Given the description of an element on the screen output the (x, y) to click on. 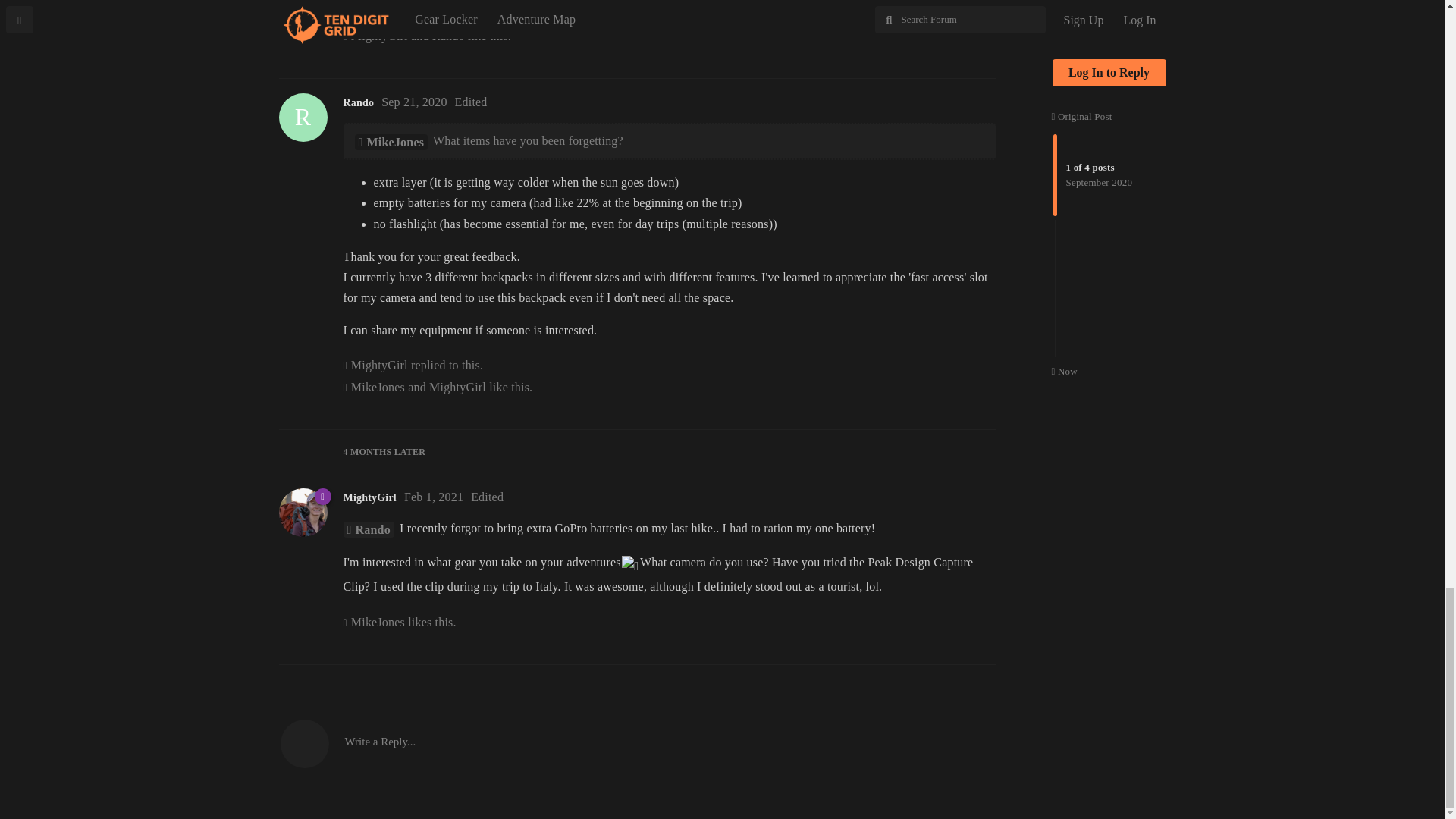
Monday, September 21, 2020 10:20 AM (358, 102)
Feb 1, 2021 (413, 101)
MikeJones (433, 496)
MikeJones (377, 387)
MightyGirl (391, 141)
Monday, February 1, 2021 6:17 AM (457, 387)
Rando (433, 496)
MightyGirl (367, 13)
Rando (378, 365)
MightyGirl (448, 36)
Sep 21, 2020 (378, 36)
Rando (413, 101)
MightyGirl (367, 529)
